Given the description of an element on the screen output the (x, y) to click on. 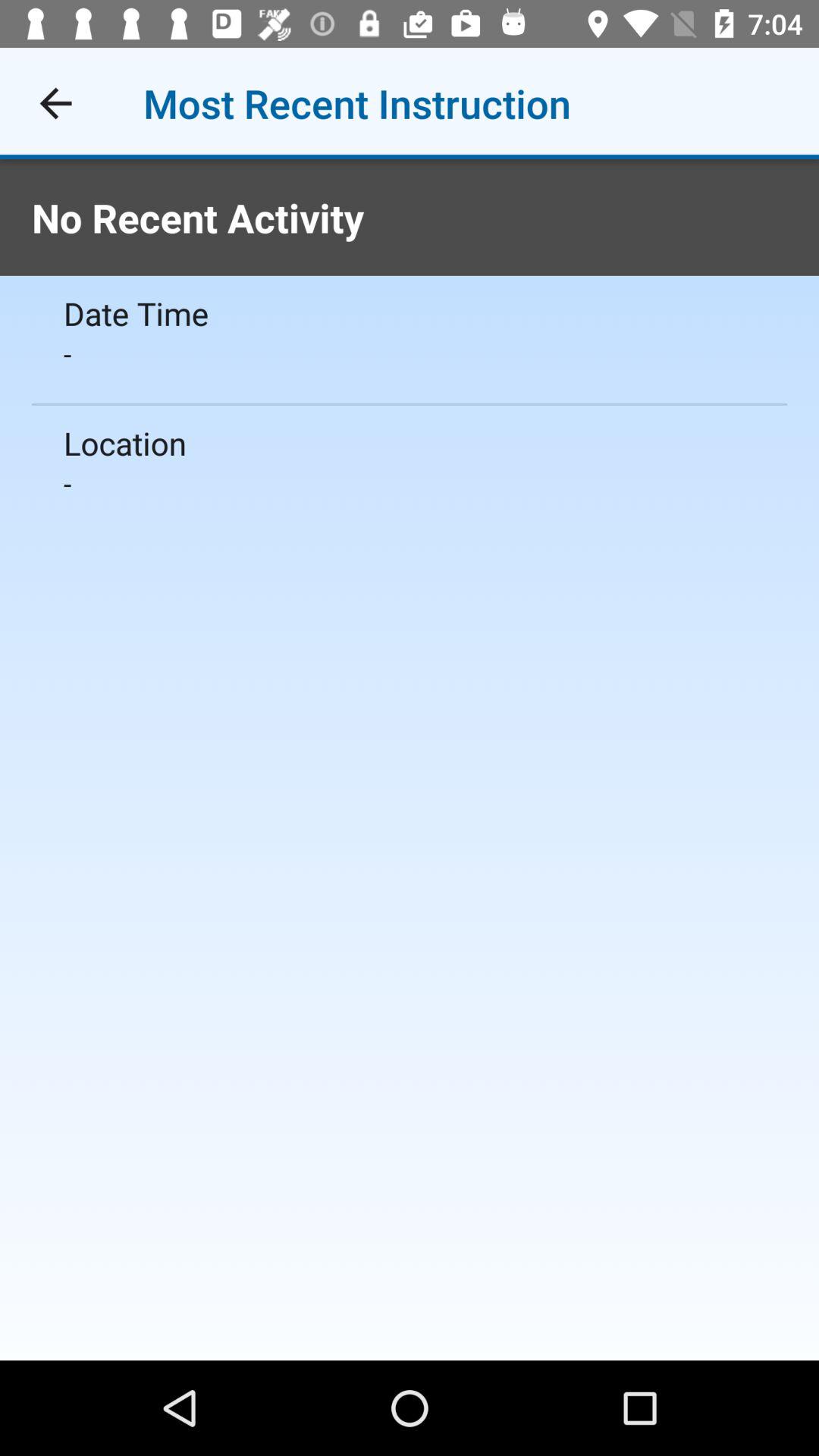
click the icon below the - (409, 442)
